Given the description of an element on the screen output the (x, y) to click on. 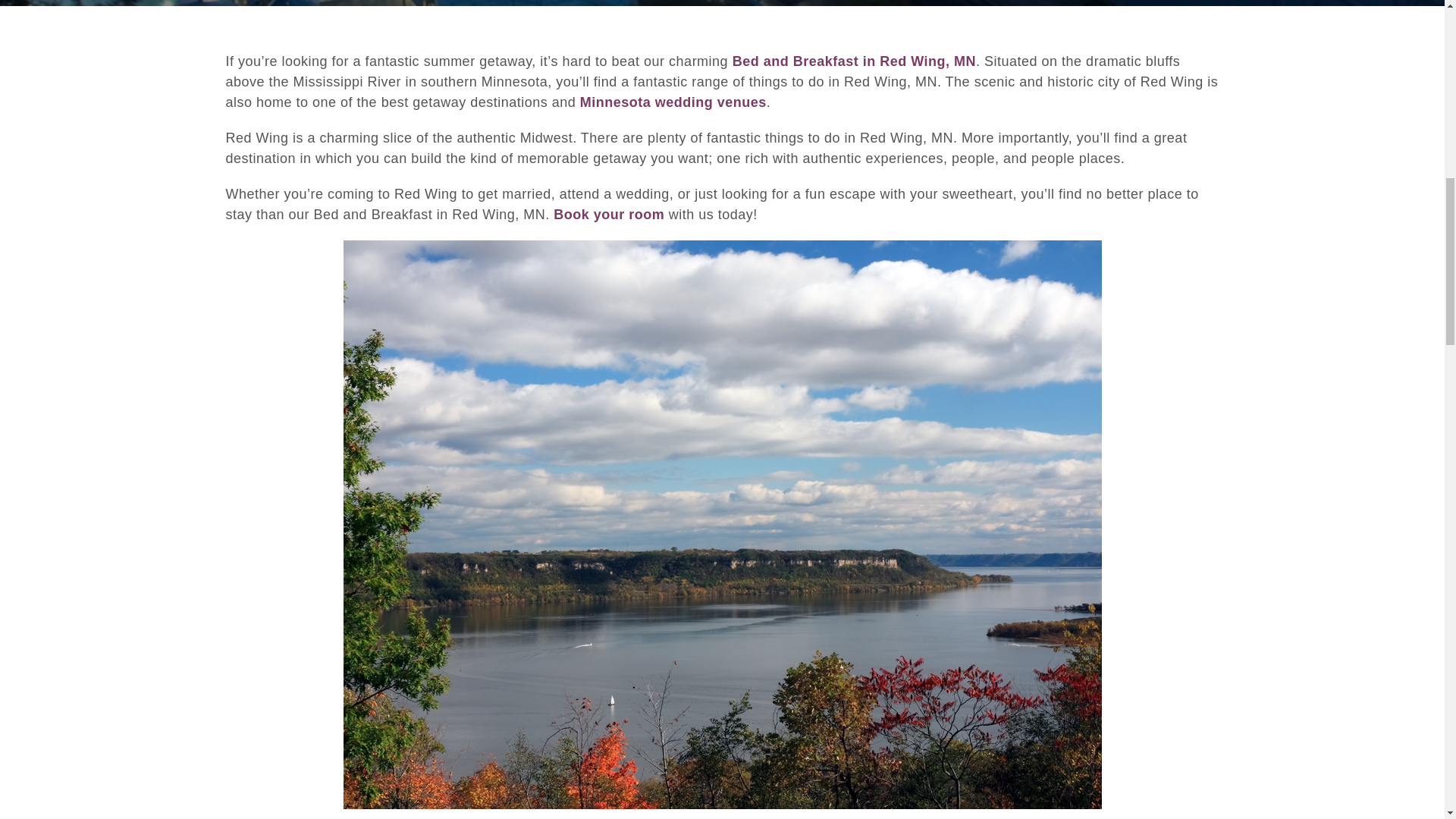
Minnesota wedding venues (673, 102)
Book your room (608, 214)
Bed and Breakfast in Red Wing, MN (853, 61)
